Given the description of an element on the screen output the (x, y) to click on. 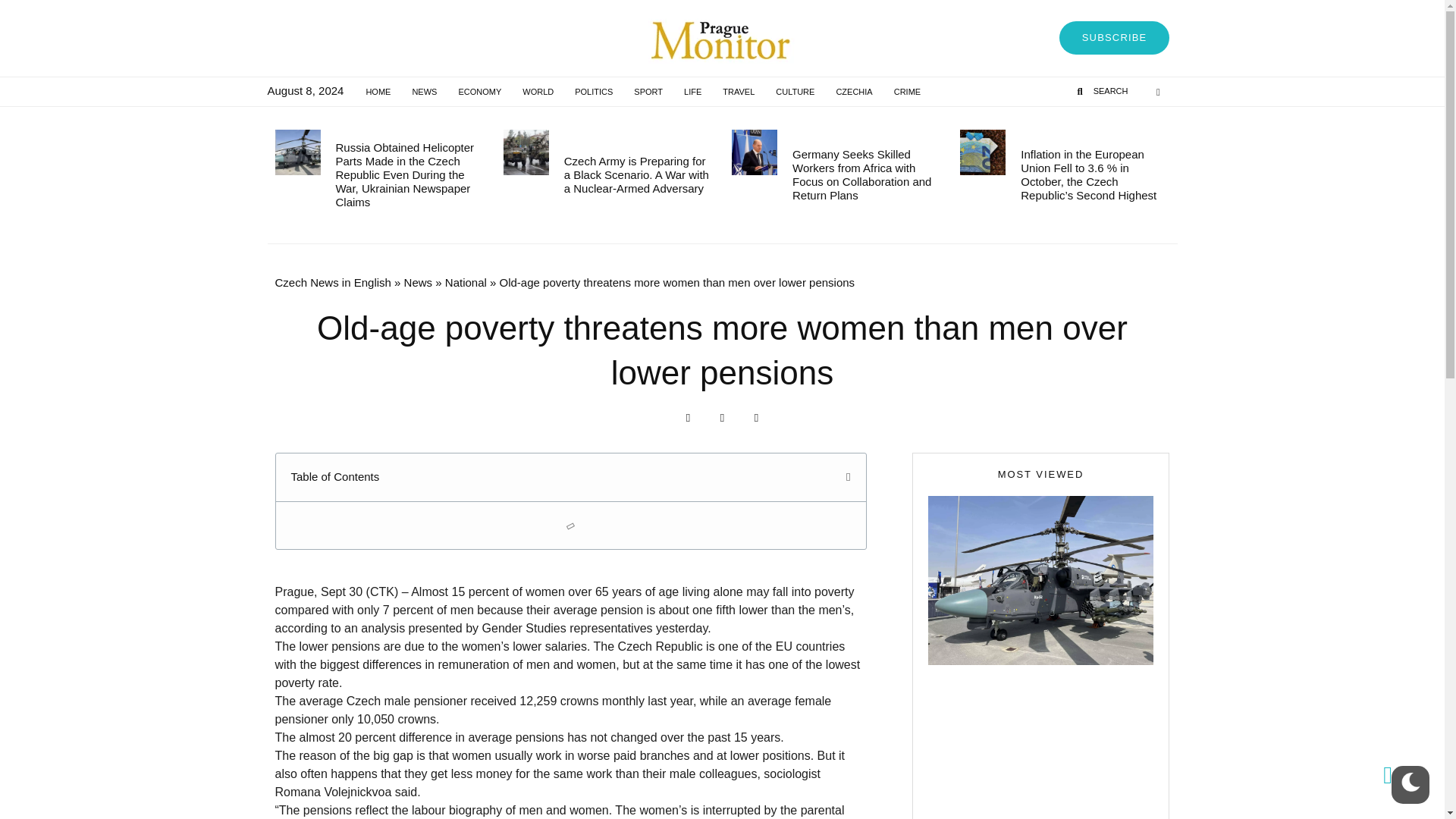
HOME (378, 91)
WORLD (538, 91)
Czech News in English (332, 282)
NEWS (423, 91)
CRIME (907, 91)
CULTURE (795, 91)
SPORT (647, 91)
POLITICS (593, 91)
LIFE (691, 91)
